Given the description of an element on the screen output the (x, y) to click on. 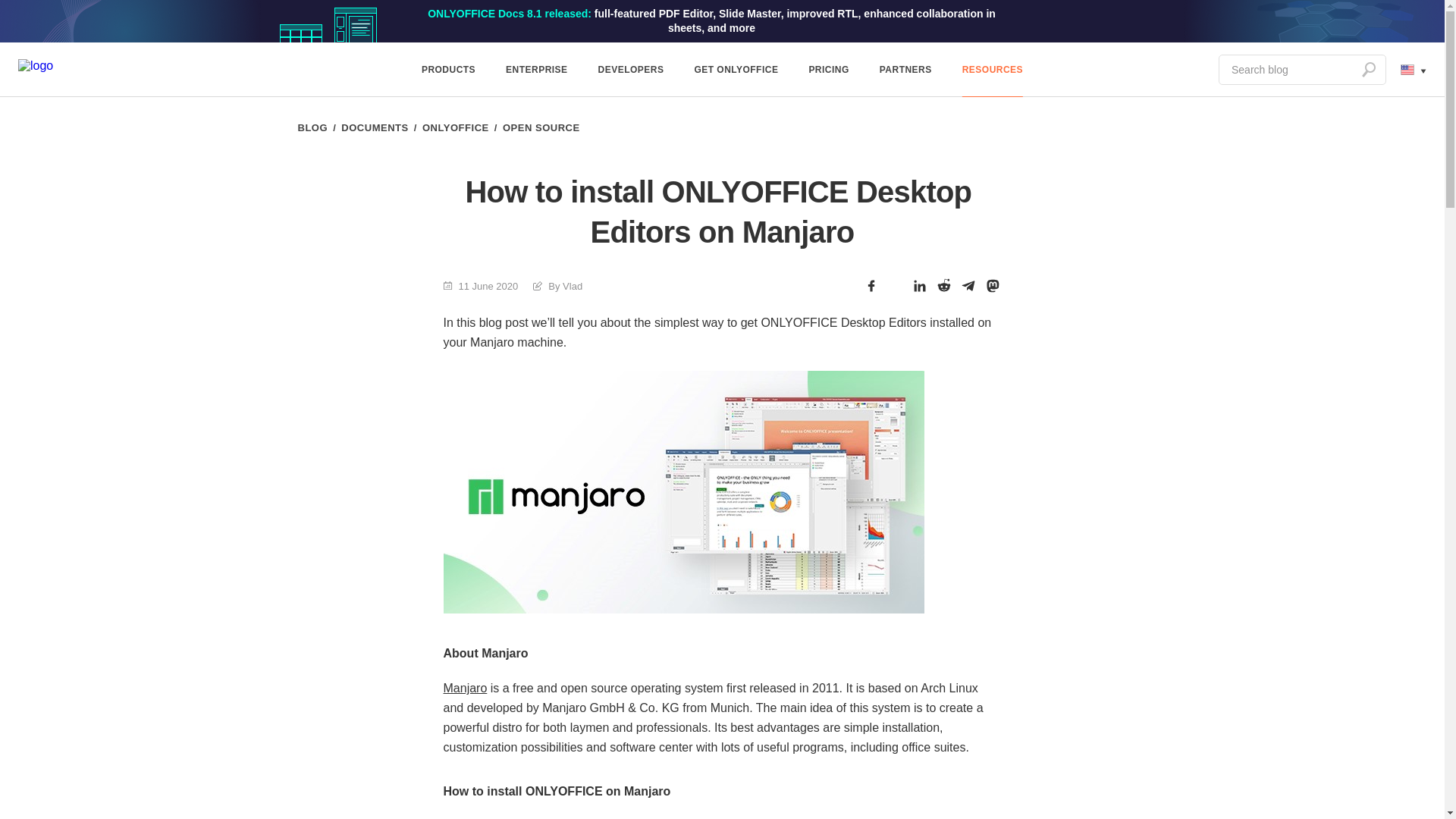
OPEN SOURCE (540, 127)
PRODUCTS (448, 69)
ONLYOFFICE (455, 127)
GET ONLYOFFICE (735, 69)
ENTERPRISE (536, 69)
PRICING (828, 69)
By Vlad (557, 286)
BLOG (312, 127)
PARTNERS (905, 69)
RESOURCES (992, 69)
DOCUMENTS (373, 127)
DEVELOPERS (631, 69)
Mastodon (991, 285)
Facebook (870, 285)
Manjaro (464, 687)
